Given the description of an element on the screen output the (x, y) to click on. 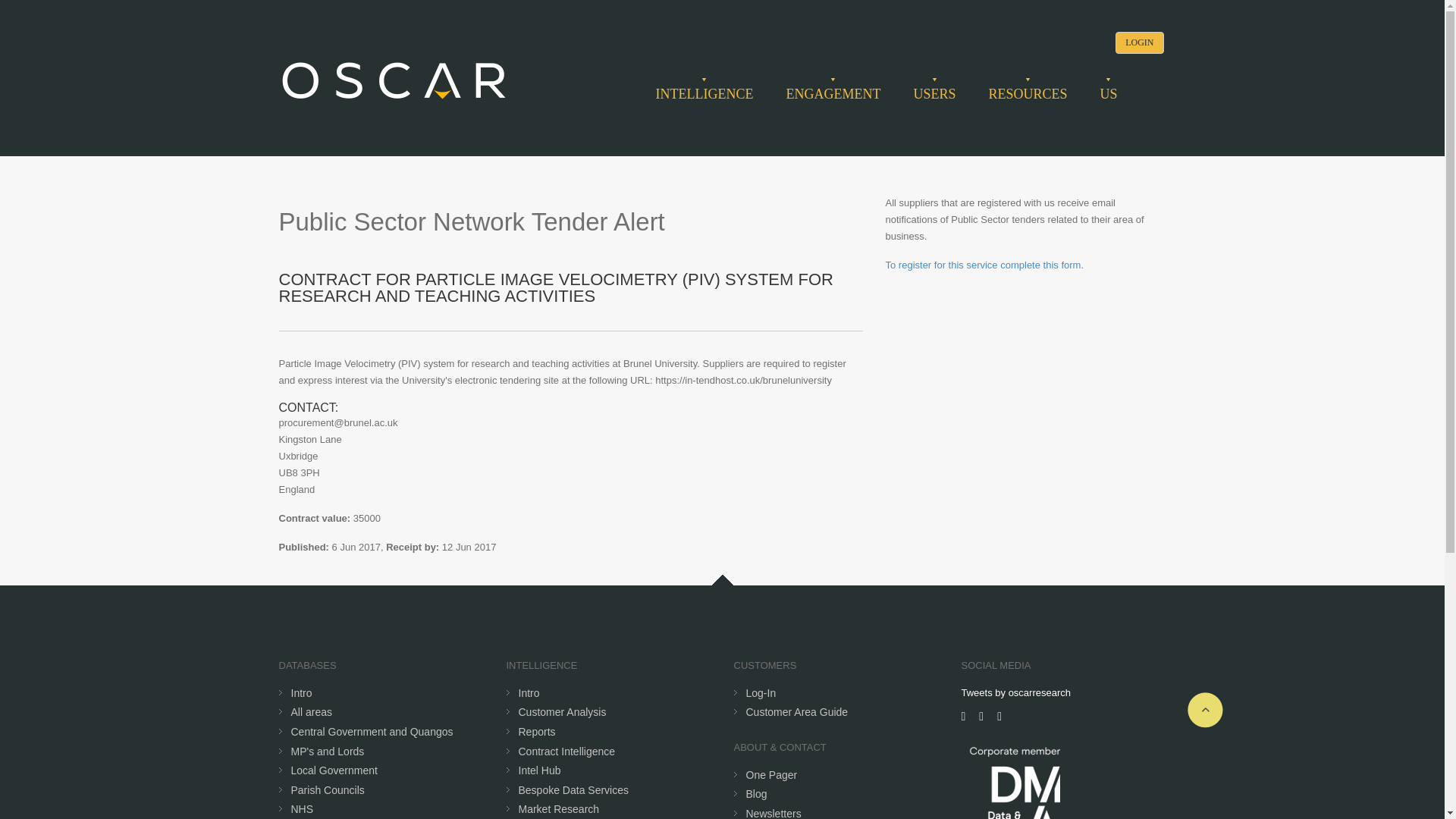
Local Government (334, 770)
RESOURCES (1027, 94)
ENGAGEMENT (833, 94)
US (1107, 94)
To register for this service complete this form. (984, 265)
Central Government and Quangos (371, 731)
NHS (302, 808)
Parish Councils (328, 789)
MP's and Lords (328, 751)
LOGIN (1139, 42)
